Given the description of an element on the screen output the (x, y) to click on. 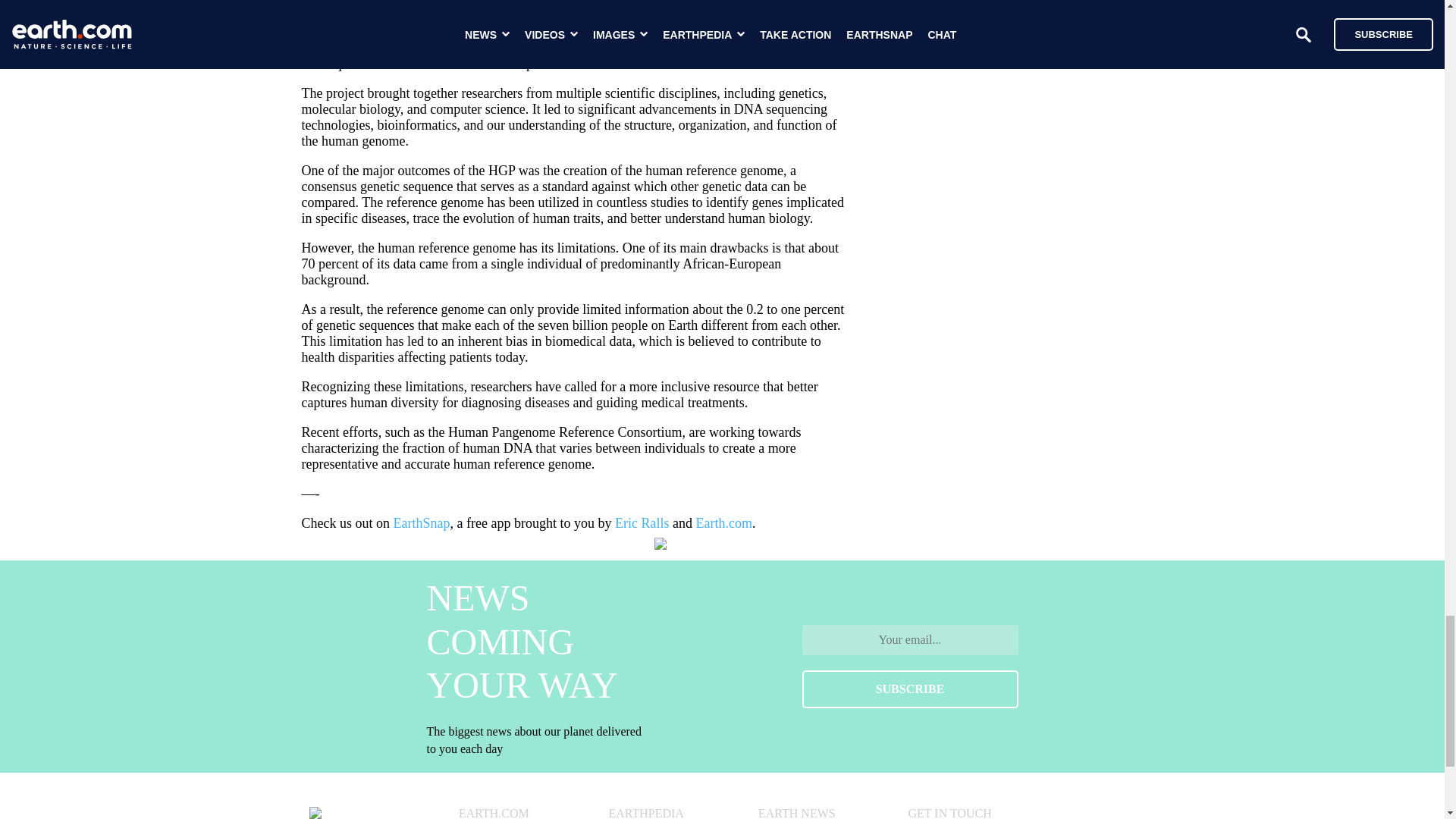
Earth.com (723, 522)
EarthSnap (421, 522)
Eric Ralls (641, 522)
